Given the description of an element on the screen output the (x, y) to click on. 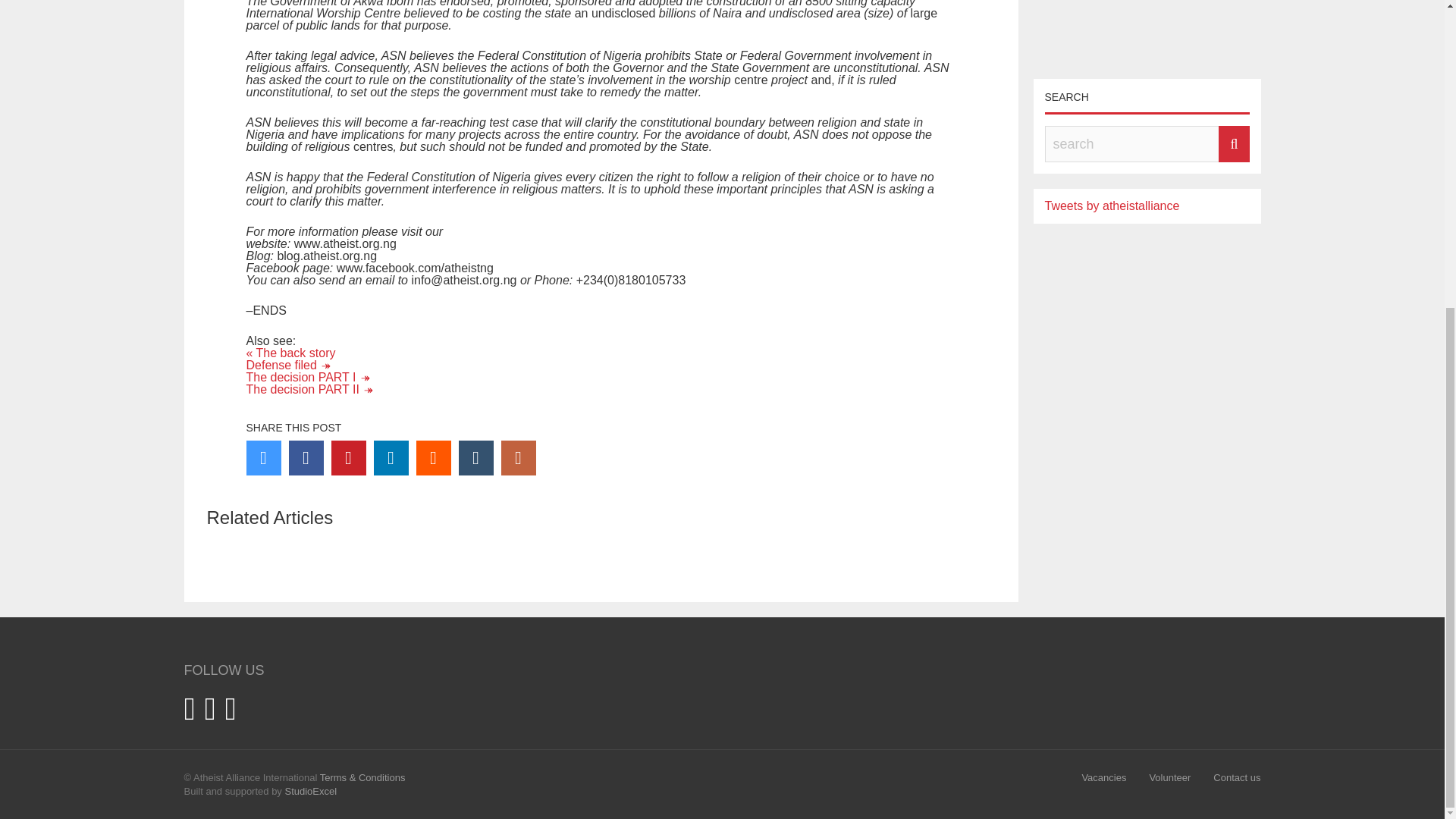
Pinterest (347, 457)
Reddit (431, 457)
Twitter (263, 457)
Facebook (305, 457)
LinkedIn (389, 457)
